Given the description of an element on the screen output the (x, y) to click on. 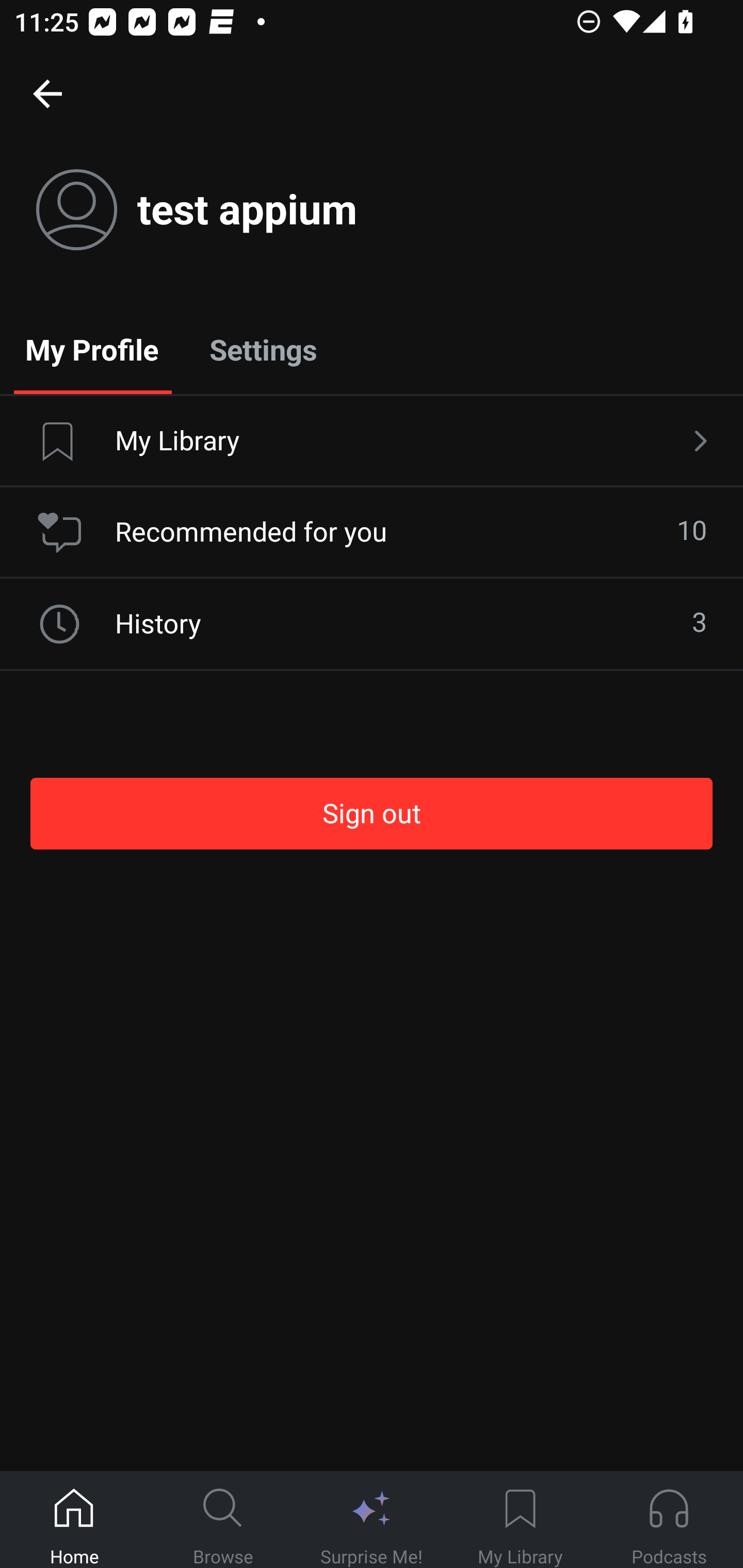
Home, back (47, 92)
My Profile (92, 348)
Settings (263, 348)
My Library (371, 441)
Recommended for you 10 (371, 532)
History 3 (371, 623)
Sign out (371, 813)
Home (74, 1520)
Browse (222, 1520)
Surprise Me! (371, 1520)
My Library (519, 1520)
Podcasts (668, 1520)
